Given the description of an element on the screen output the (x, y) to click on. 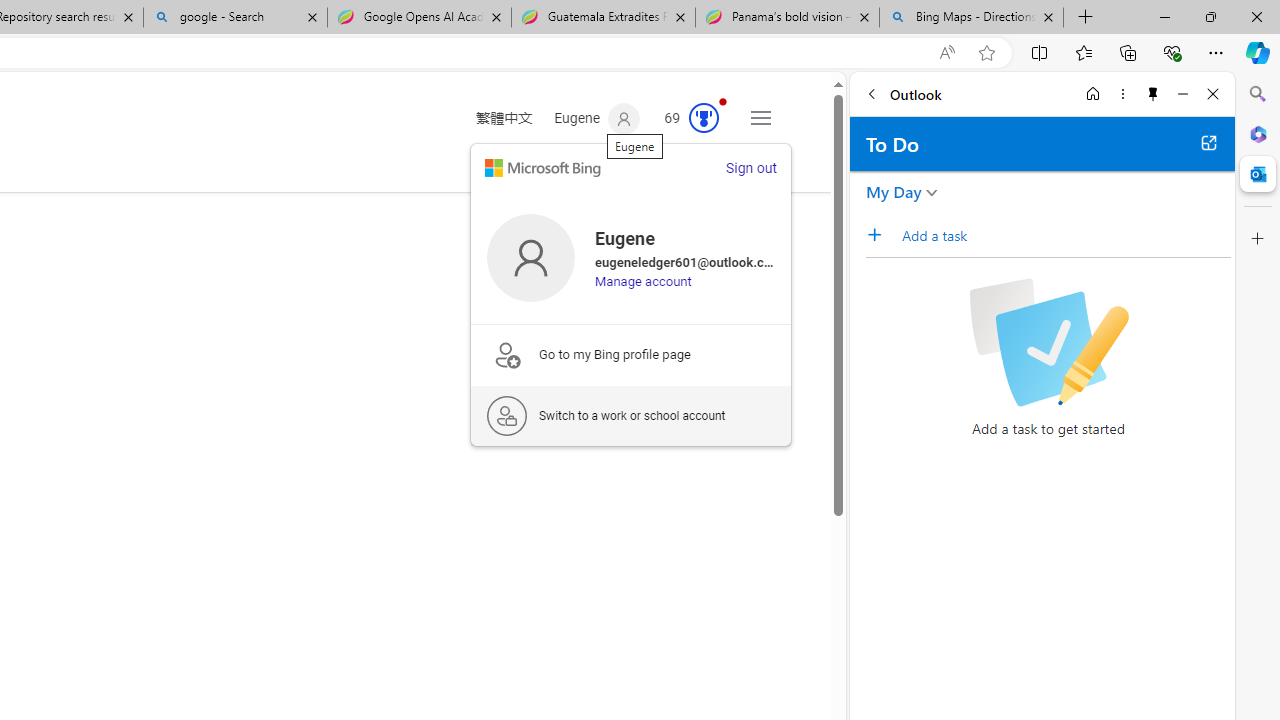
AutomationID: serp_medal_svg (703, 117)
microsoft logo (542, 168)
Manage account (643, 281)
Open in new tab (1208, 142)
